Given the description of an element on the screen output the (x, y) to click on. 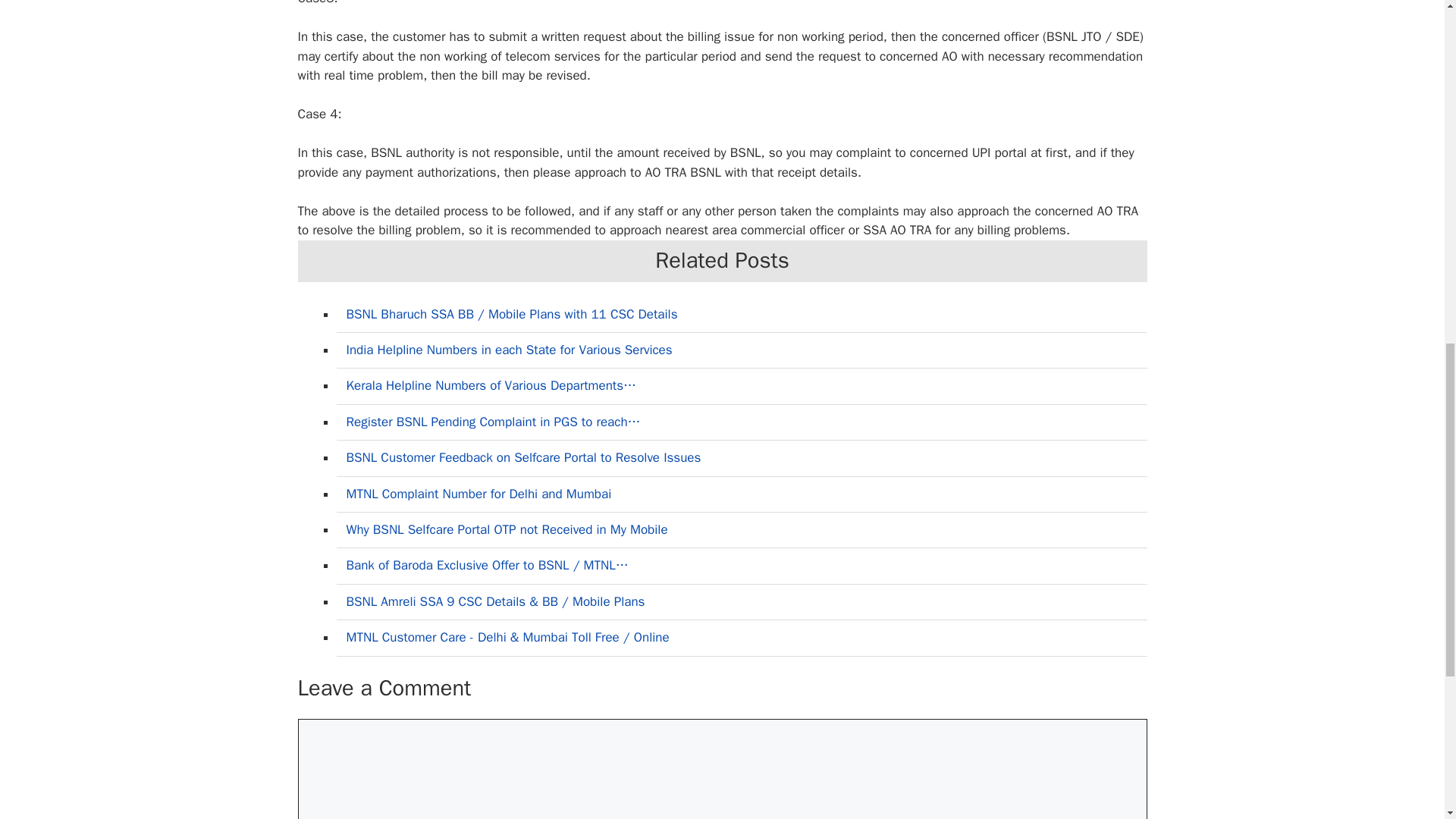
BSNL Customer Feedback on Selfcare Portal to Resolve Issues (523, 457)
MTNL Complaint Number for Delhi and Mumbai (478, 494)
India Helpline Numbers in each State for Various Services (508, 349)
Why BSNL Selfcare Portal OTP not Received in My Mobile (506, 529)
